Given the description of an element on the screen output the (x, y) to click on. 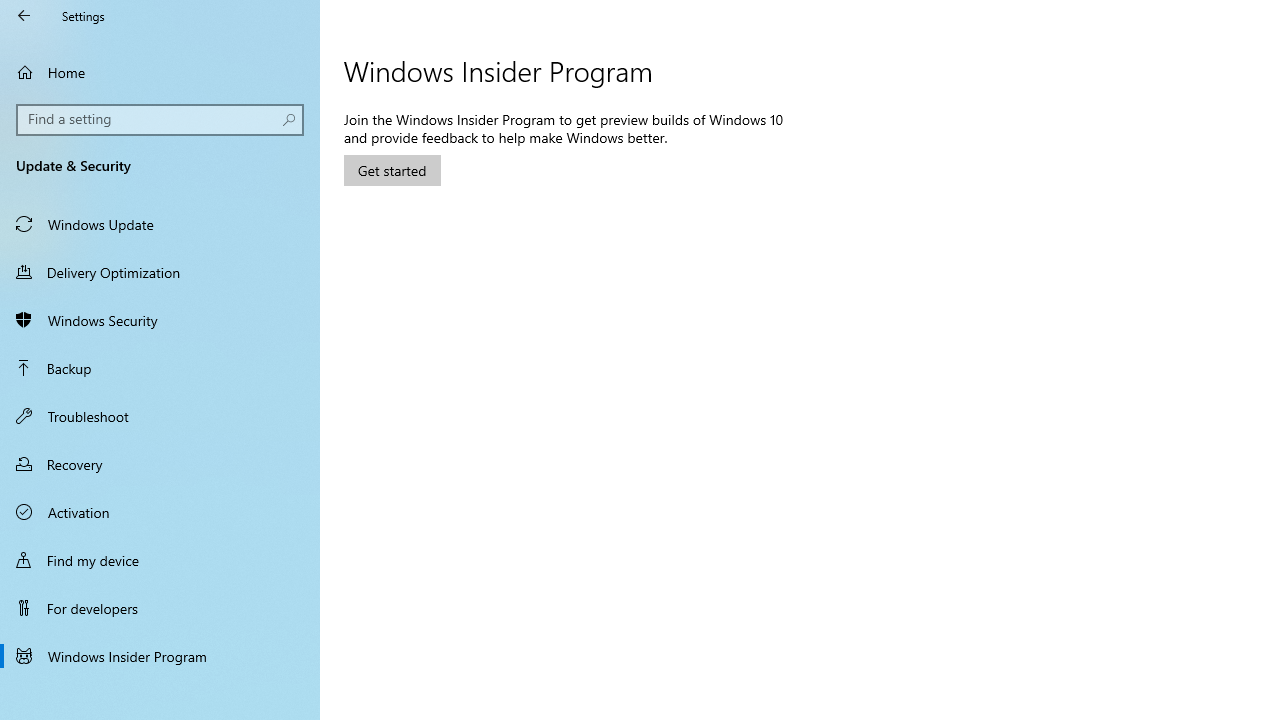
Recovery (160, 463)
For developers (160, 607)
Activation (160, 511)
Get started (392, 169)
Backup (160, 367)
Windows Update (160, 223)
Troubleshoot (160, 415)
Delivery Optimization (160, 271)
Find my device (160, 559)
Windows Insider Program (160, 655)
Search box, Find a setting (160, 119)
Windows Security (160, 319)
